Given the description of an element on the screen output the (x, y) to click on. 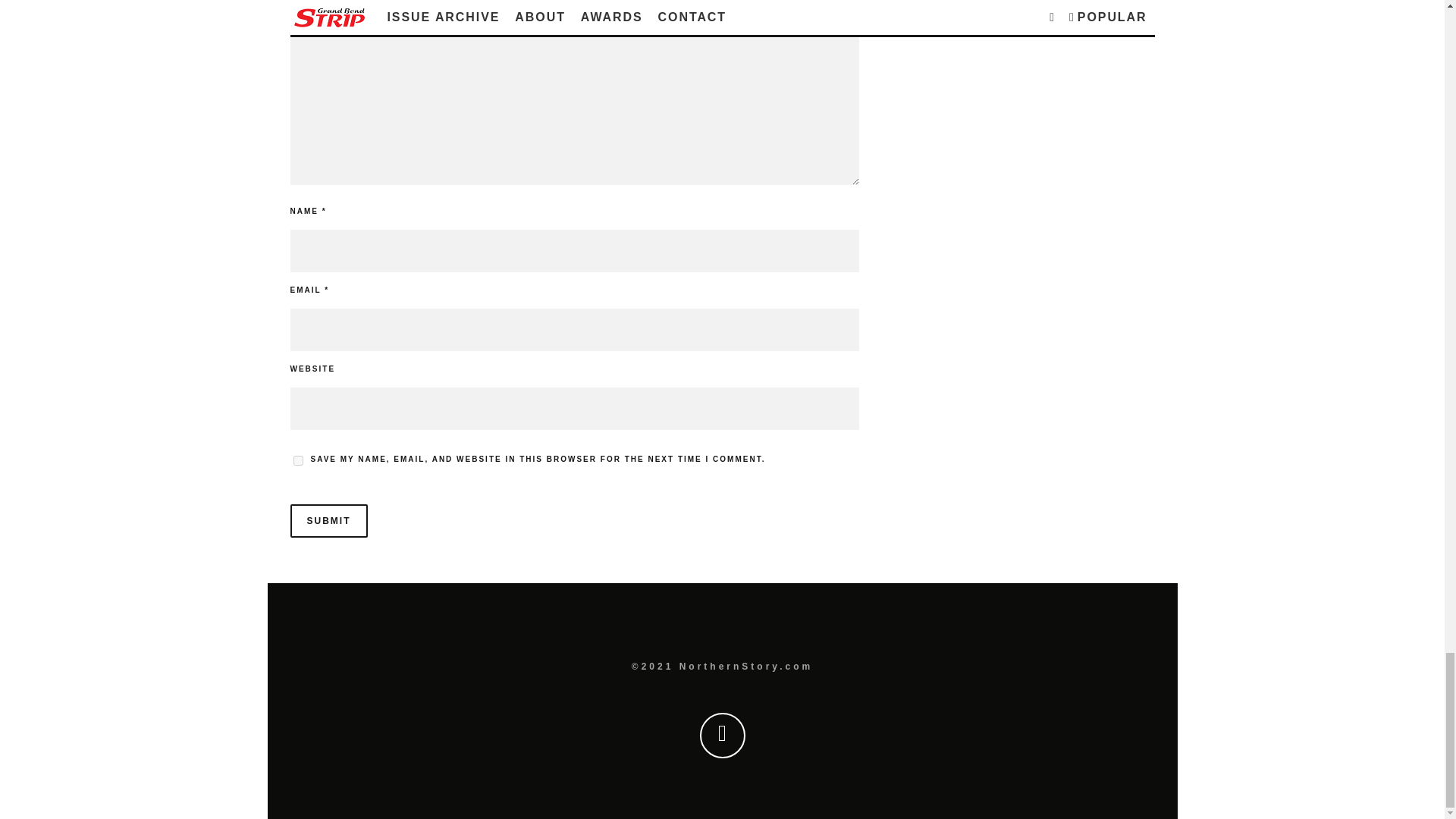
Submit (327, 520)
yes (297, 460)
